Given the description of an element on the screen output the (x, y) to click on. 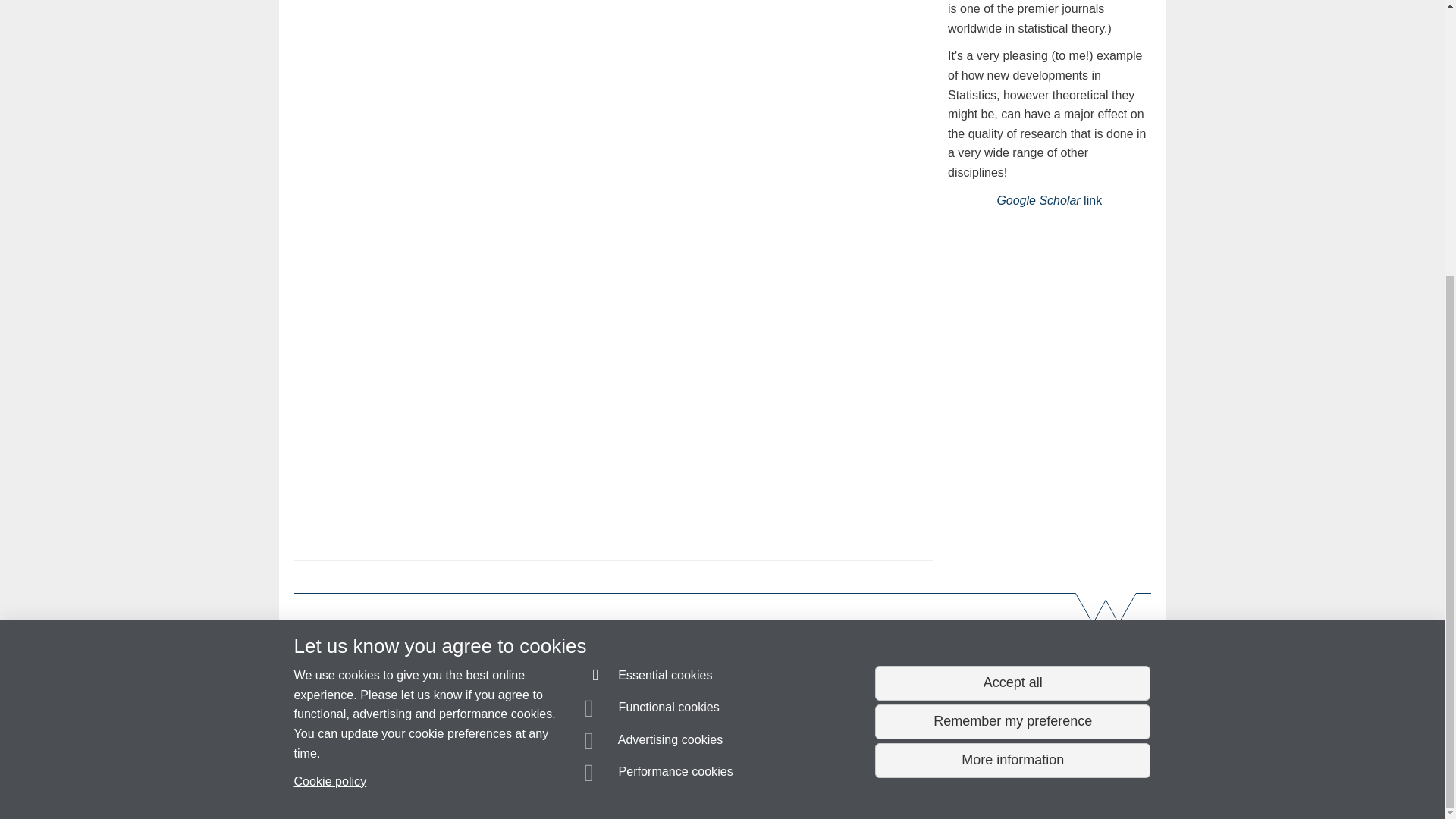
Information about cookies (467, 780)
Privacy notice (673, 780)
More information about SiteBuilder (365, 780)
Royal Statistical Society - Accreditation Scheme  (823, 650)
Athena Swan Silver Award  (996, 631)
Send an email to David Firth (374, 751)
Statistics Department, University of Warwick, find us (578, 712)
Copyright Statement (514, 780)
